Given the description of an element on the screen output the (x, y) to click on. 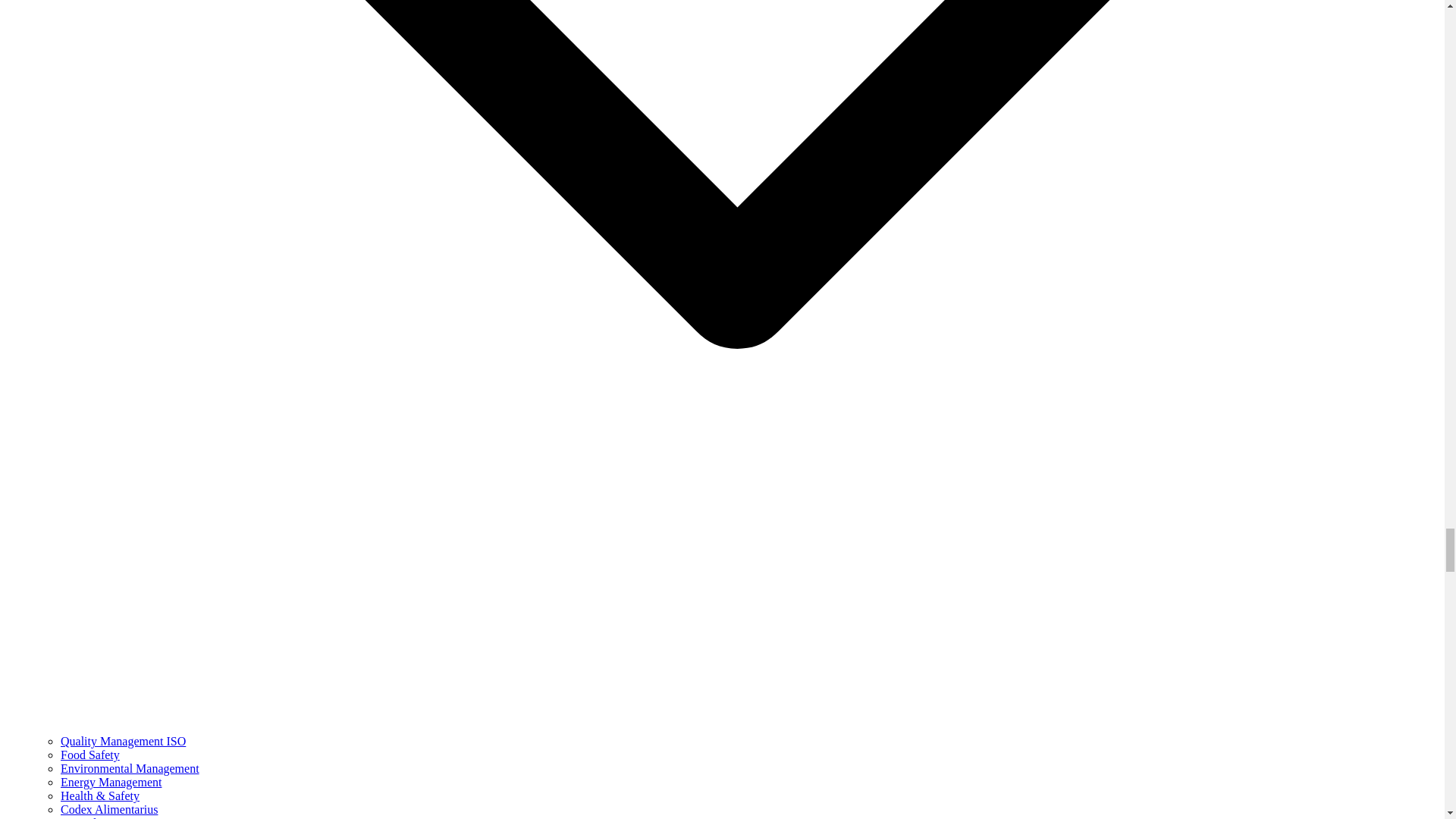
Quality Management ISO (123, 740)
